Given the description of an element on the screen output the (x, y) to click on. 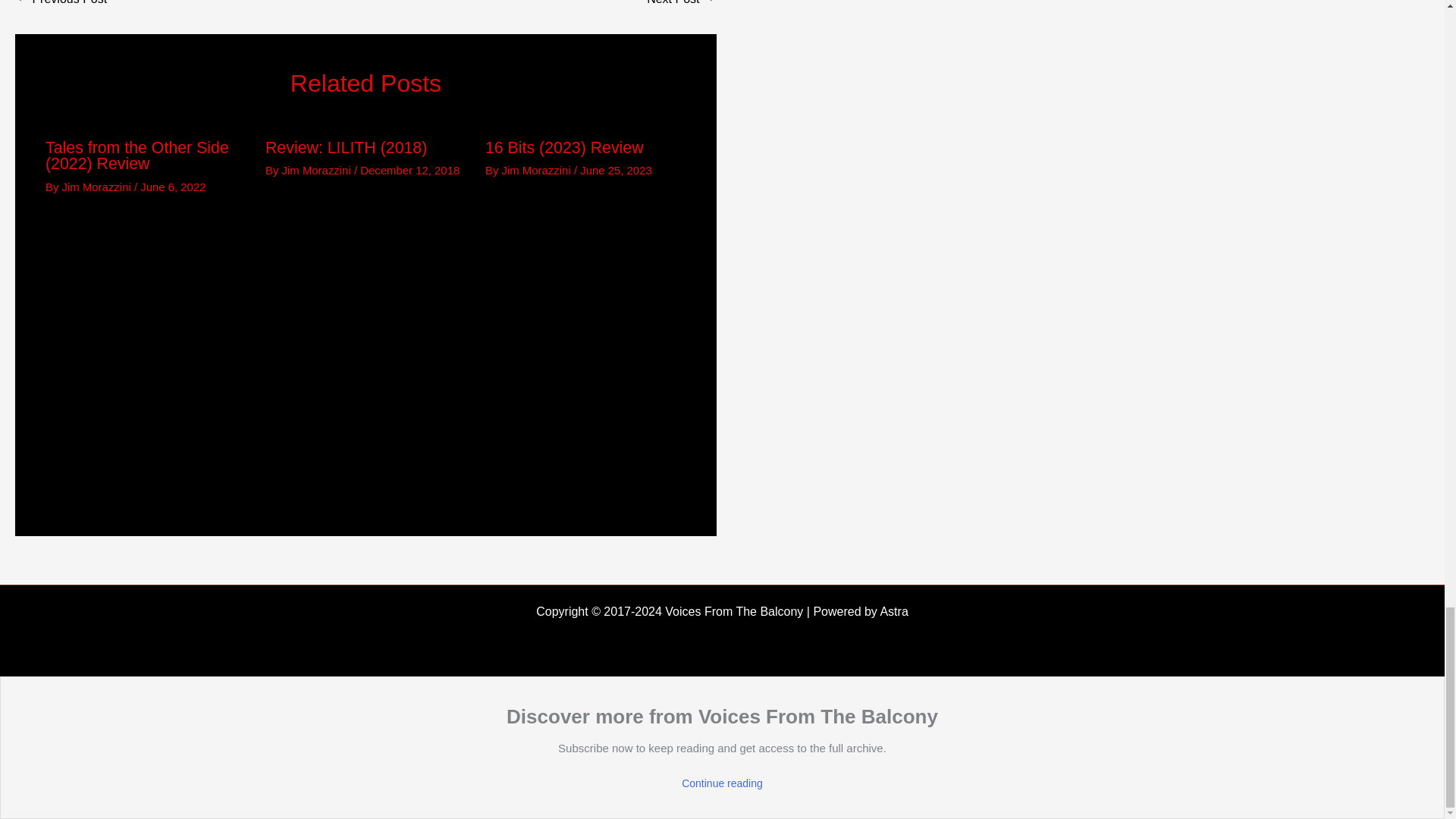
Jim Morazzini (97, 186)
Jim Morazzini (317, 169)
View all posts by Jim Morazzini (317, 169)
View all posts by Jim Morazzini (537, 169)
View all posts by Jim Morazzini (97, 186)
